Given the description of an element on the screen output the (x, y) to click on. 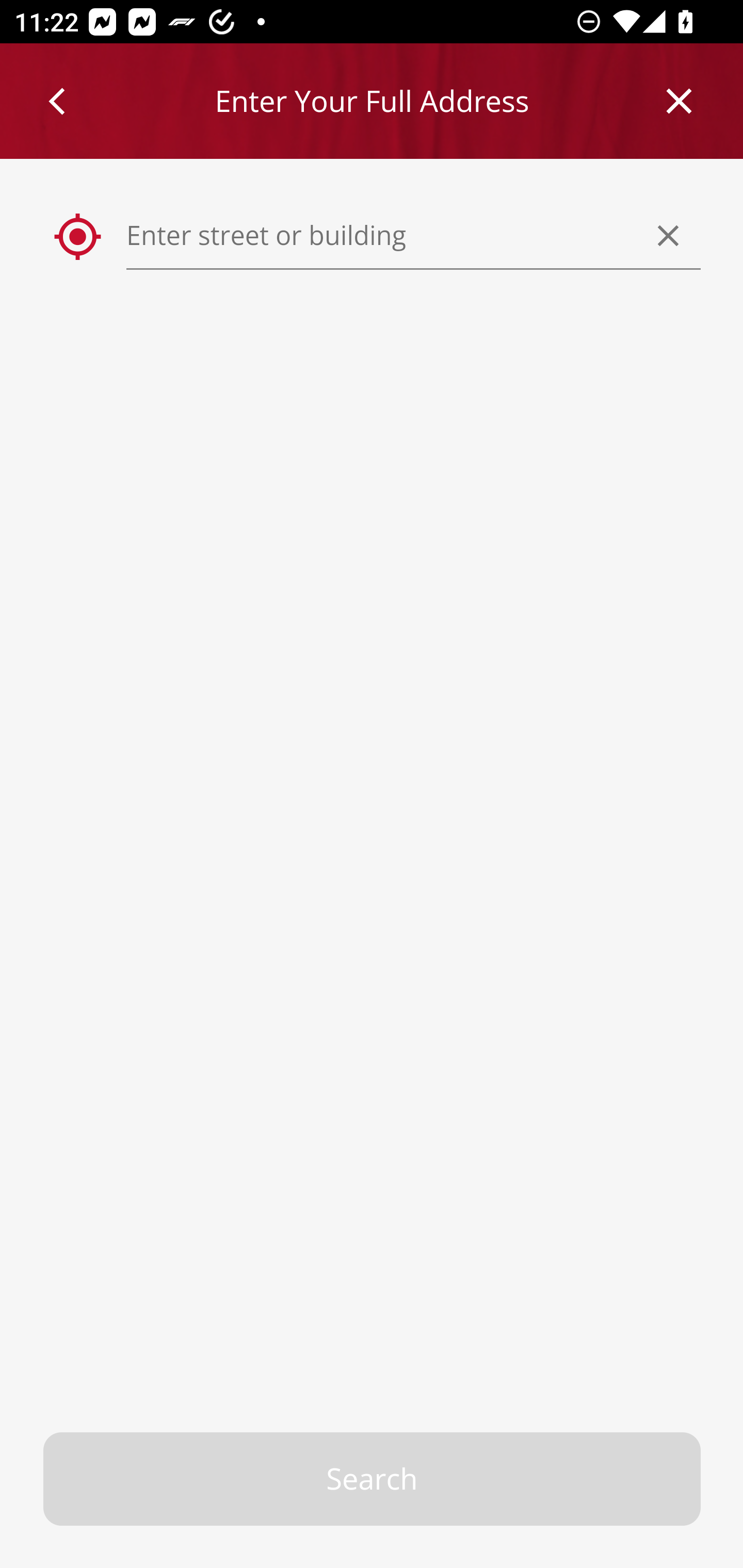
arrow_back (58, 100)
close (679, 100)
gps_fixed (78, 237)
clear (669, 235)
Search (372, 1479)
